Given the description of an element on the screen output the (x, y) to click on. 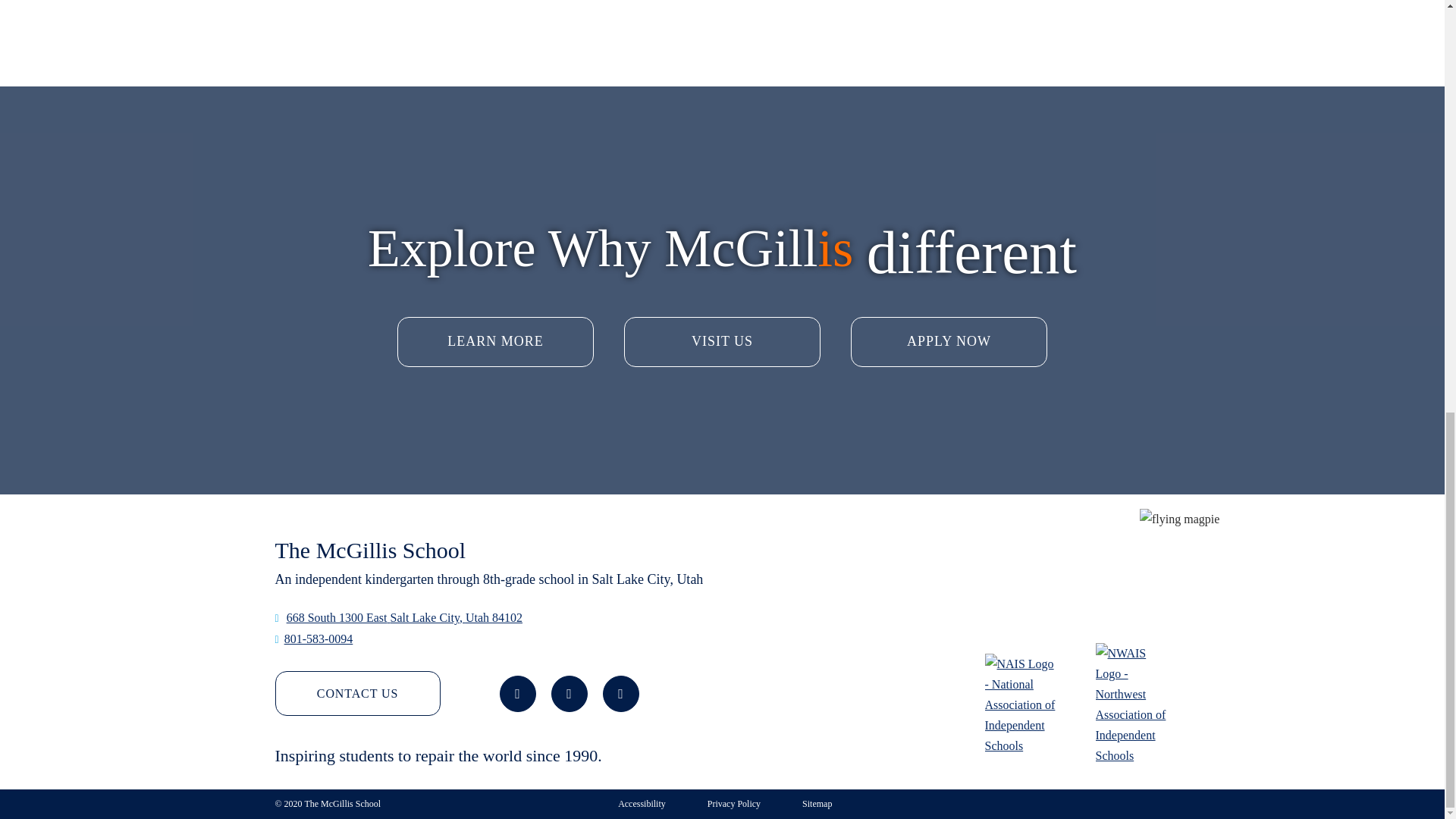
Powered by Finalsite opens in a new window (1118, 802)
